Given the description of an element on the screen output the (x, y) to click on. 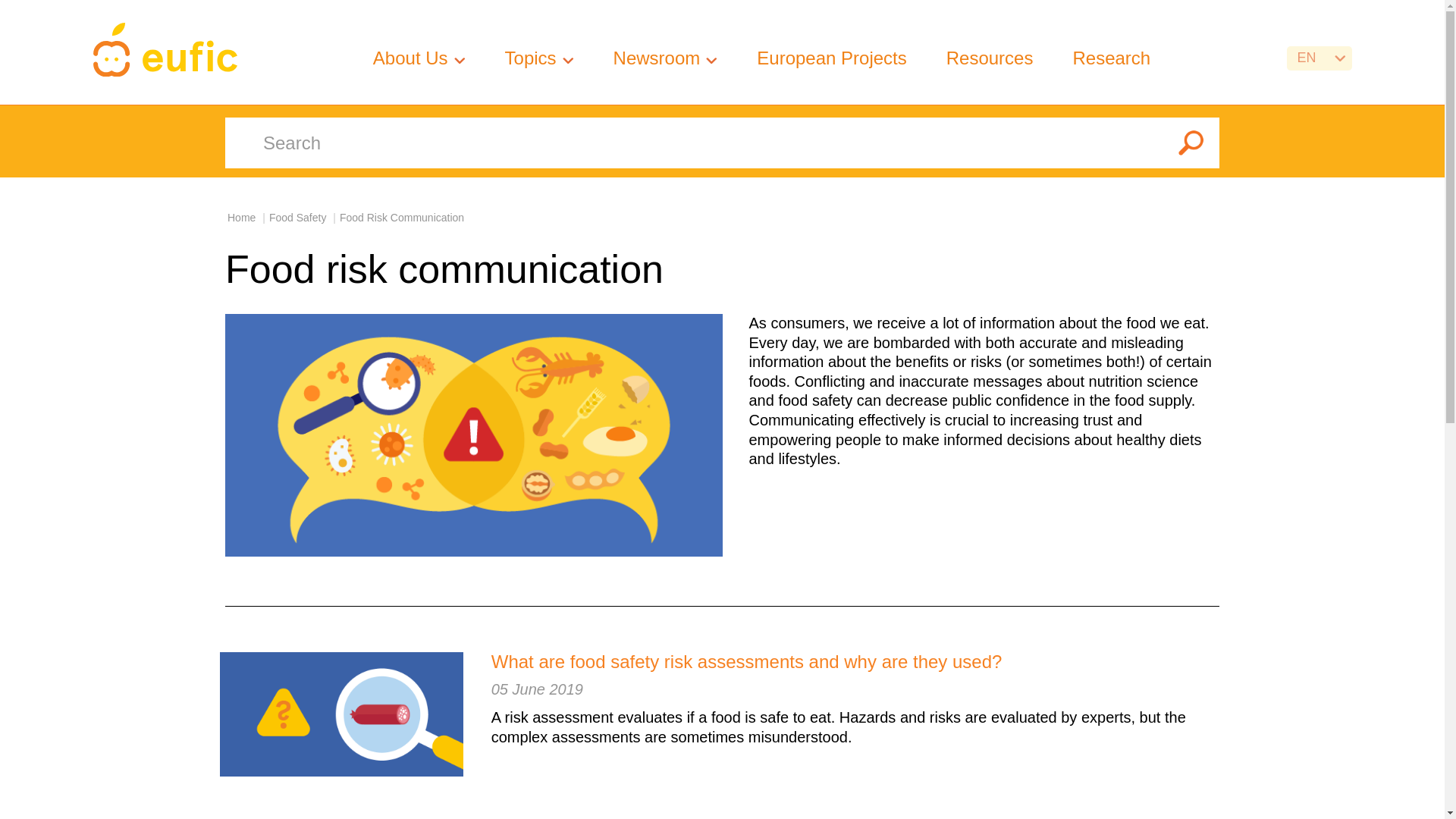
eufic (164, 51)
About Us (410, 57)
Topics (530, 57)
Newsroom (656, 57)
